Given the description of an element on the screen output the (x, y) to click on. 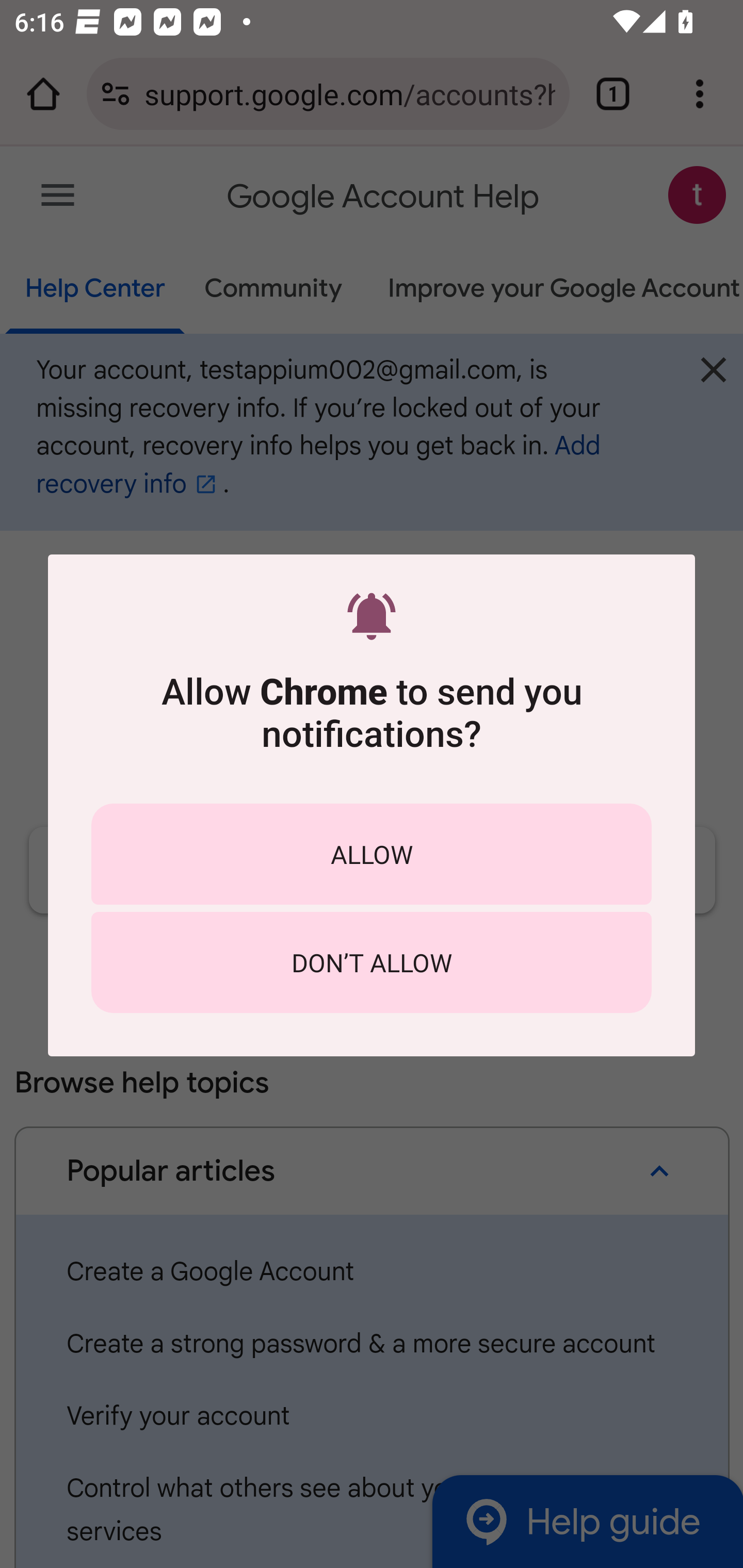
ALLOW (371, 853)
DON’T ALLOW (371, 962)
